Given the description of an element on the screen output the (x, y) to click on. 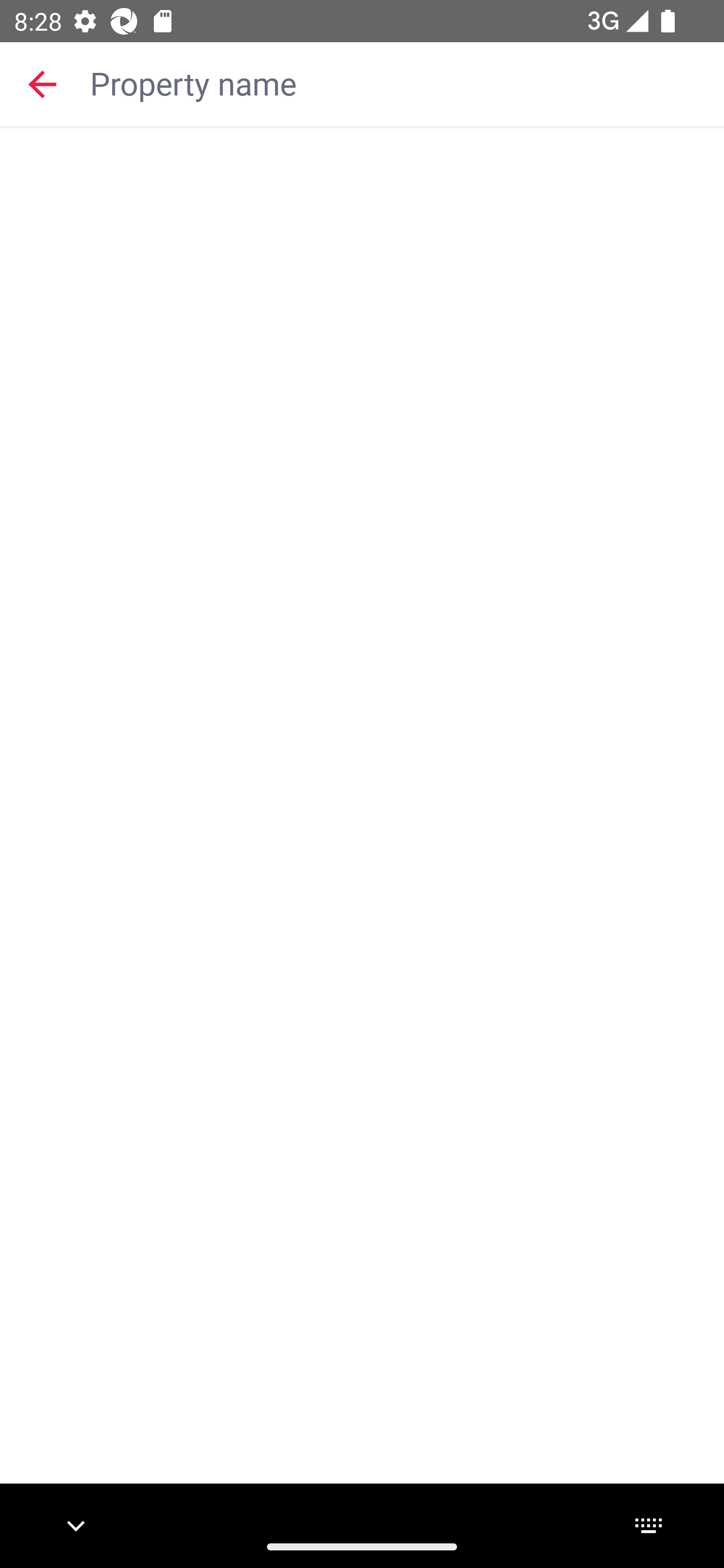
Property name,  (397, 82)
Back to search screen (41, 83)
